Given the description of an element on the screen output the (x, y) to click on. 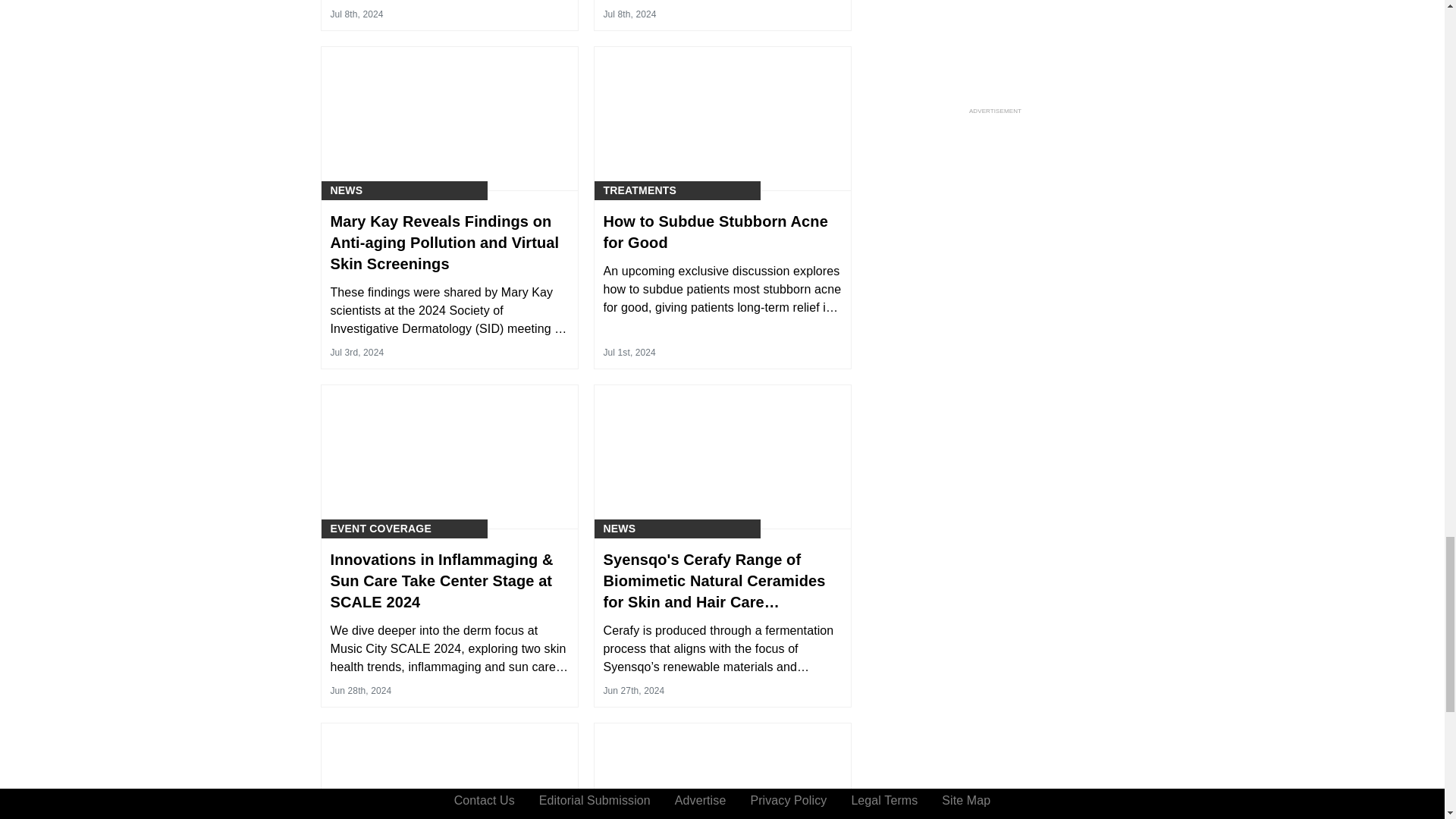
Treatments (640, 190)
News (620, 528)
News (346, 190)
